Given the description of an element on the screen output the (x, y) to click on. 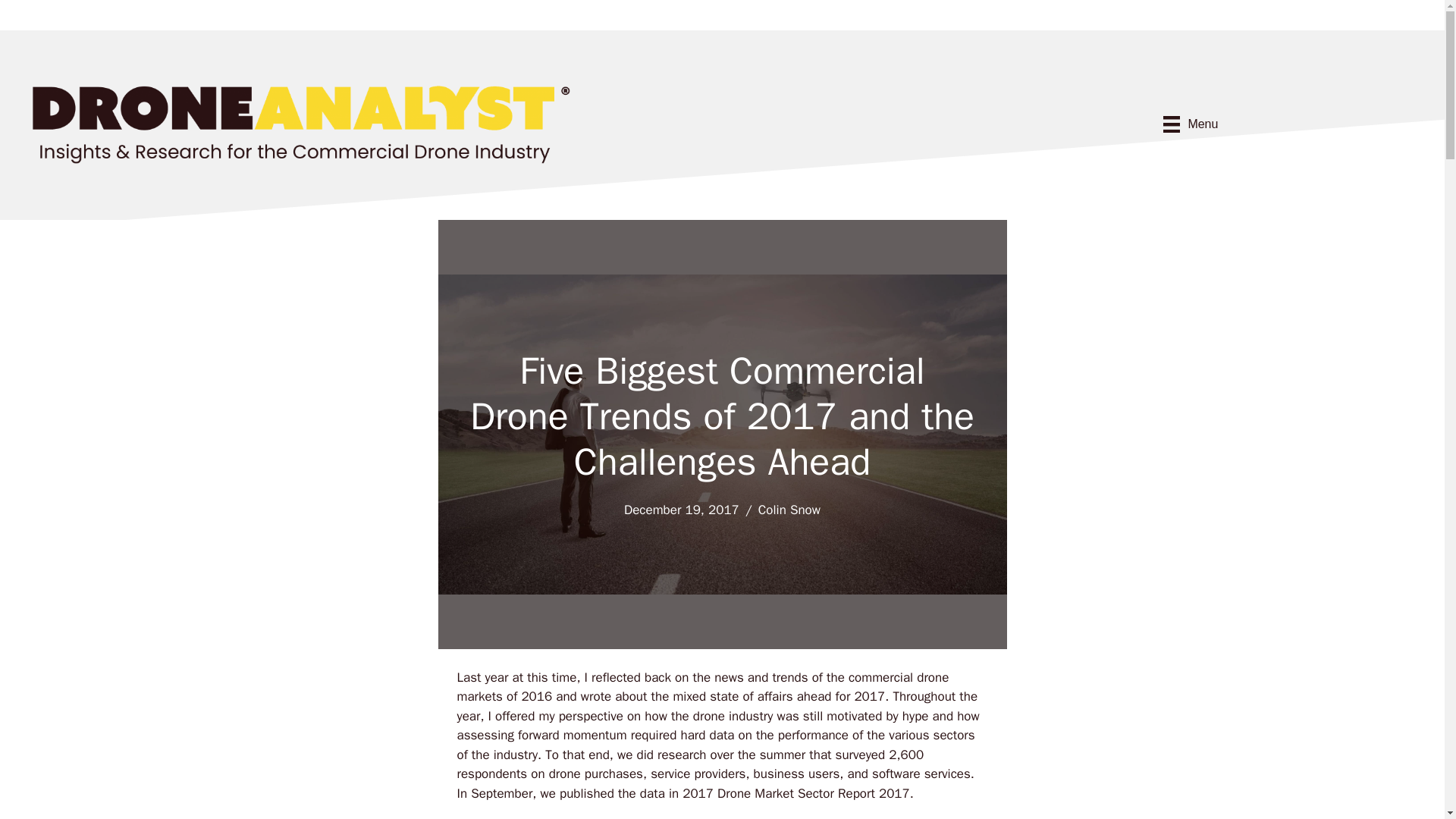
2017 Drone Market Sector Report 2017 (796, 793)
2020 Drone Analyst Logo (300, 123)
Colin Snow (789, 509)
trends of the commercial drone markets of 2016 (703, 686)
Menu (1190, 124)
